Given the description of an element on the screen output the (x, y) to click on. 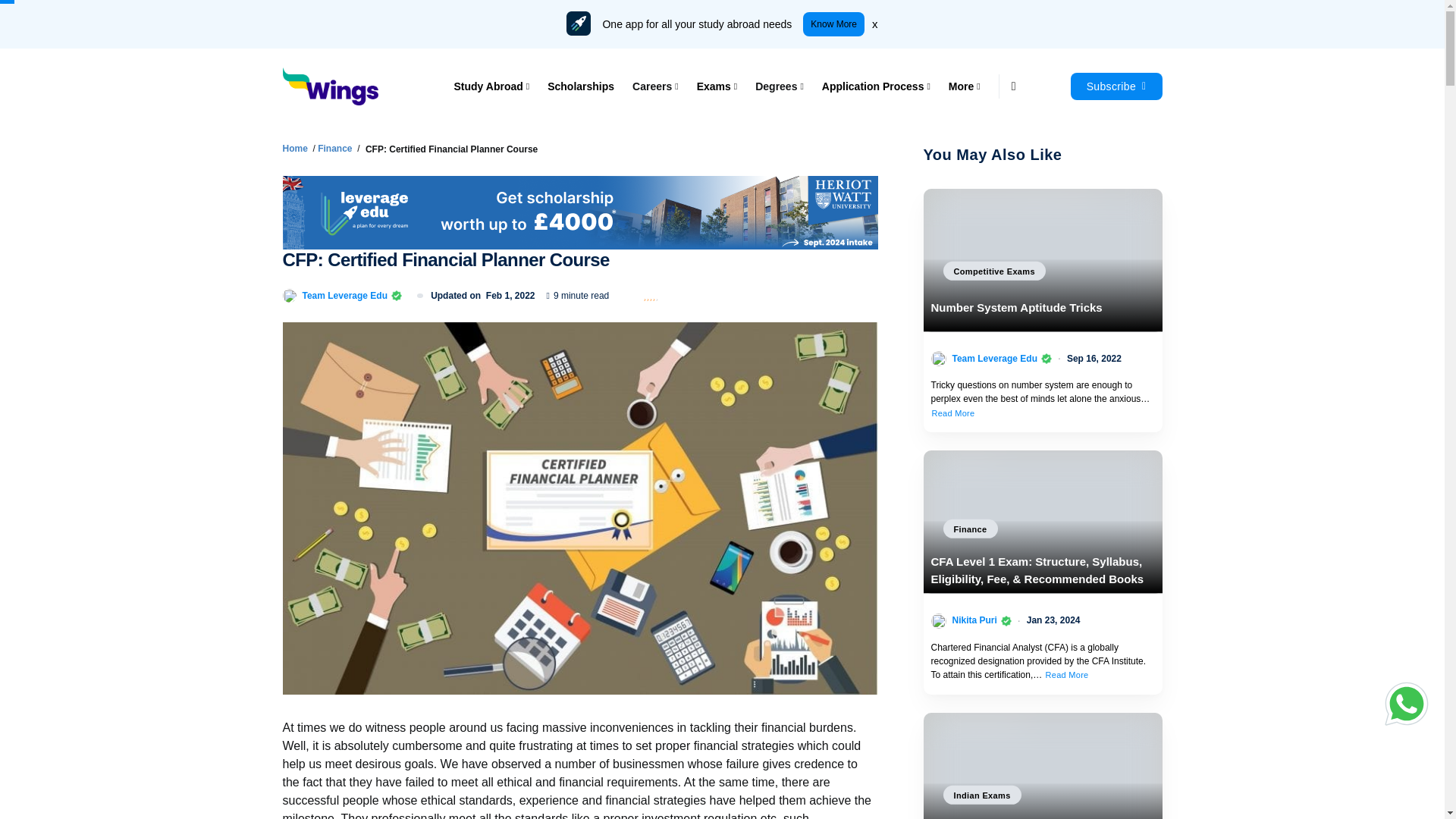
View all posts by Nikita Puri (974, 620)
View all posts by Team Leverage Edu (344, 295)
View all posts by Team Leverage Edu (995, 358)
